Given the description of an element on the screen output the (x, y) to click on. 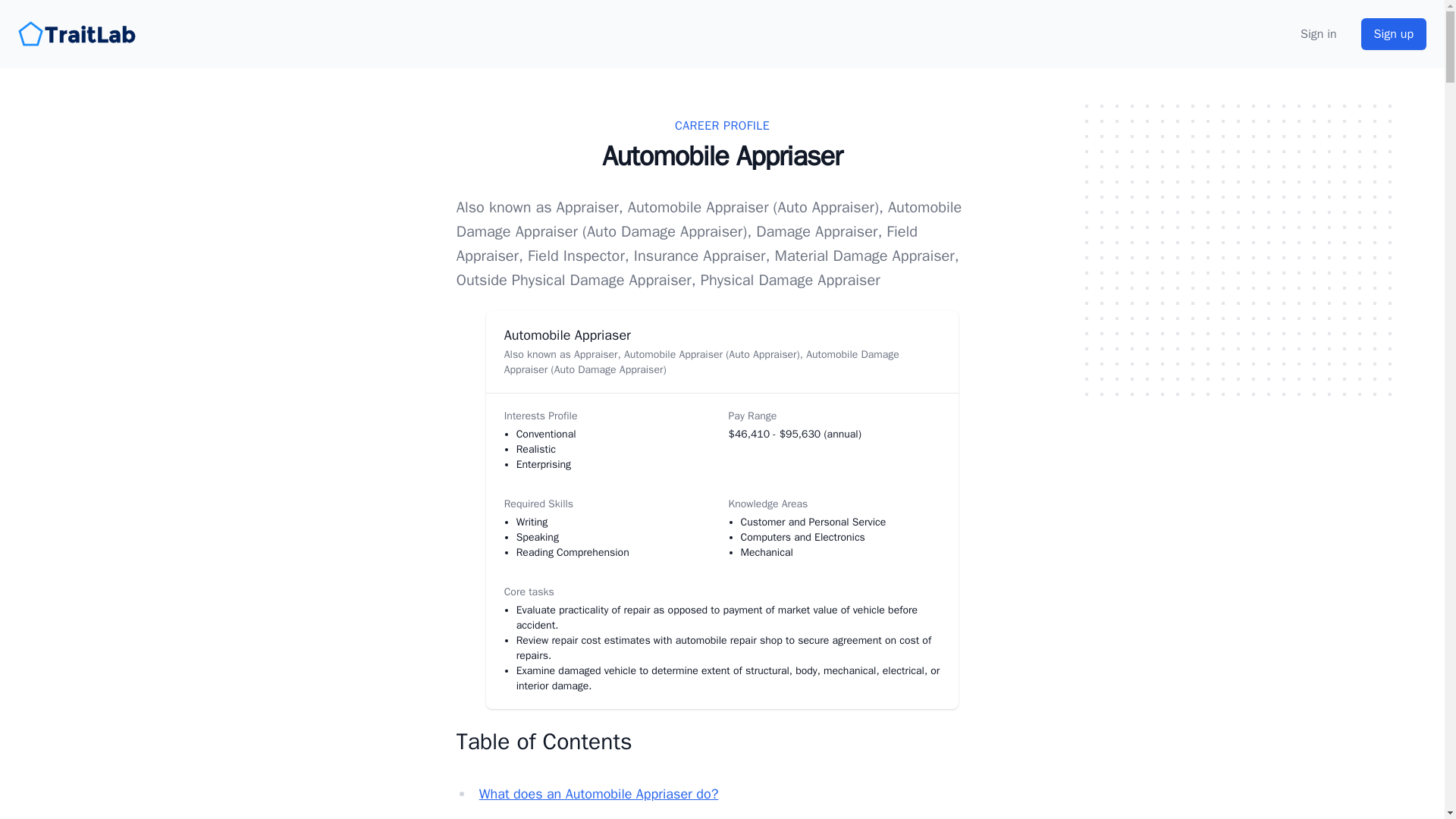
Sign up (1393, 33)
Sign in (1318, 34)
What does an Automobile Appriaser do? (599, 793)
TraitLab (78, 33)
